Given the description of an element on the screen output the (x, y) to click on. 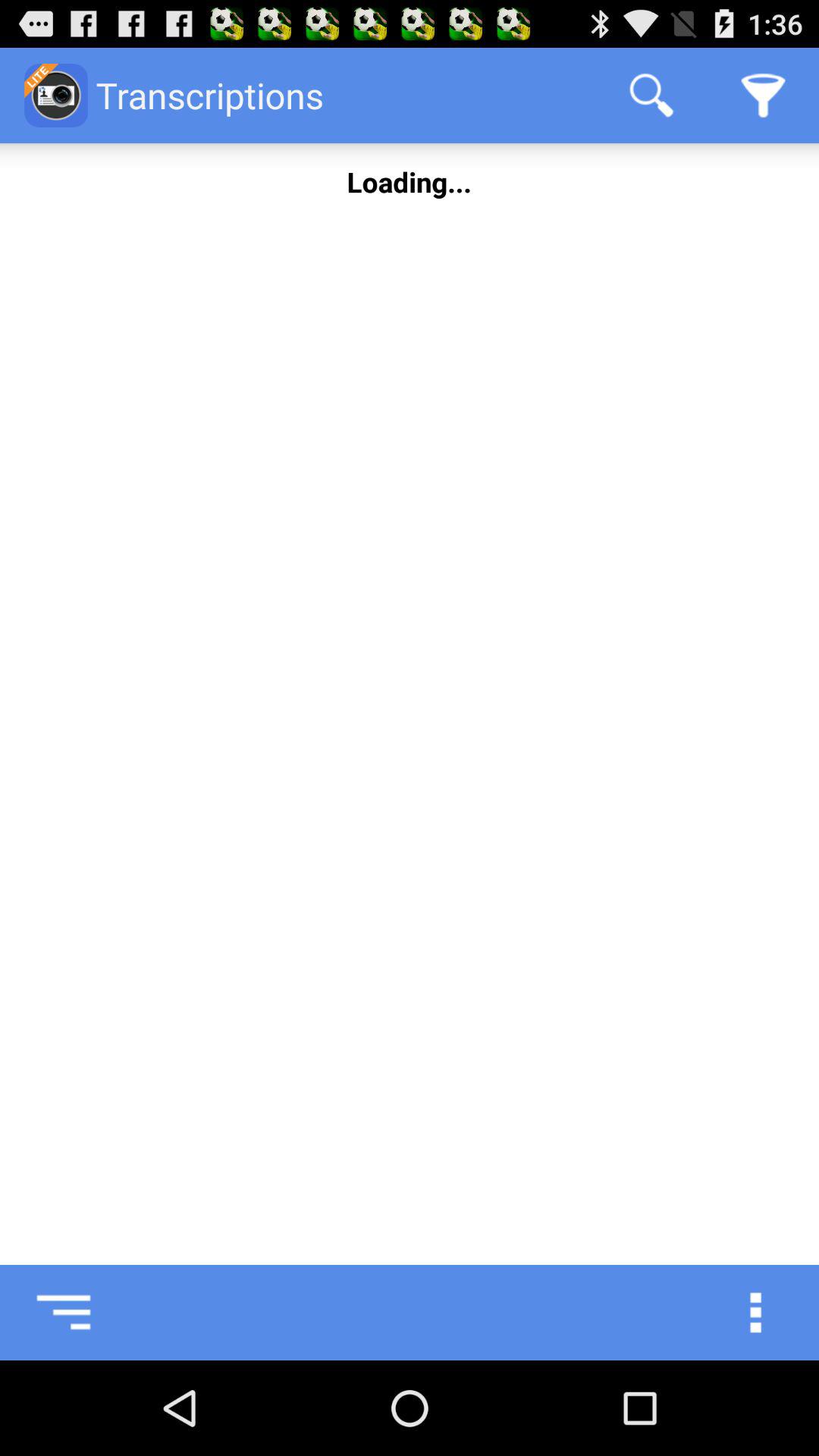
tap the icon at the bottom left corner (47, 1312)
